Given the description of an element on the screen output the (x, y) to click on. 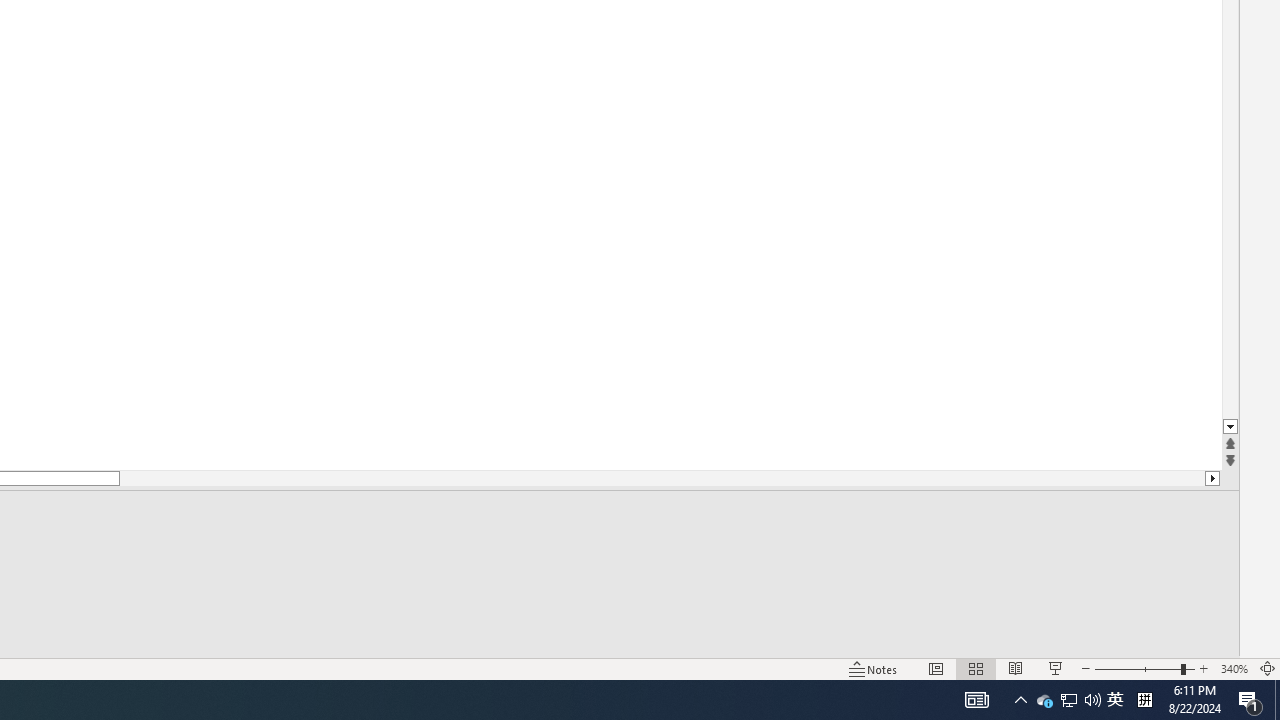
Page down (662, 478)
Line down (1230, 427)
Zoom 340% (1234, 668)
